Given the description of an element on the screen output the (x, y) to click on. 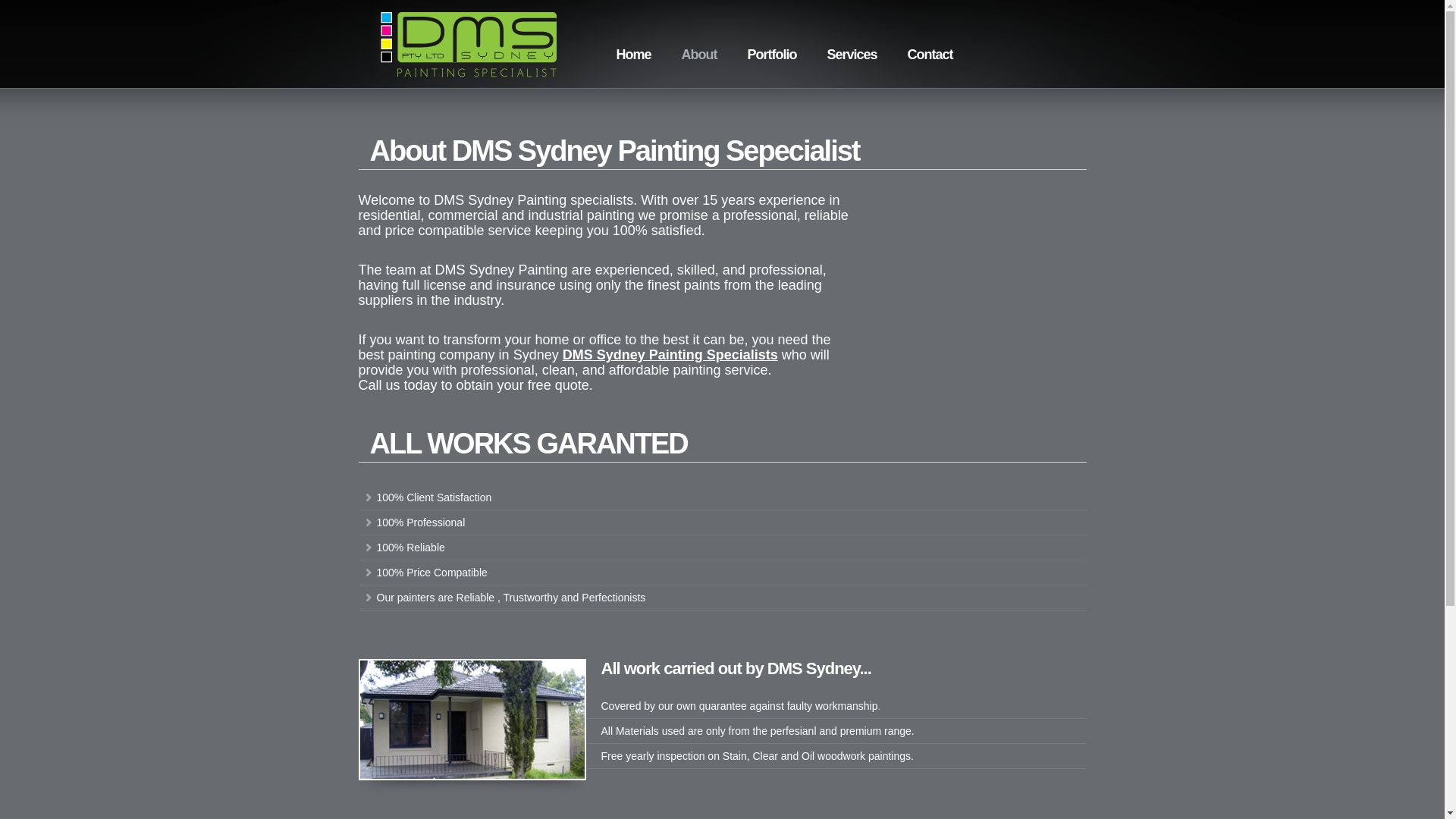
About Element type: text (699, 54)
Contact Element type: text (930, 54)
Type some title here Element type: hover (471, 775)
Services Element type: text (851, 54)
Portfolio Element type: text (772, 54)
Home Element type: text (632, 54)
